Given the description of an element on the screen output the (x, y) to click on. 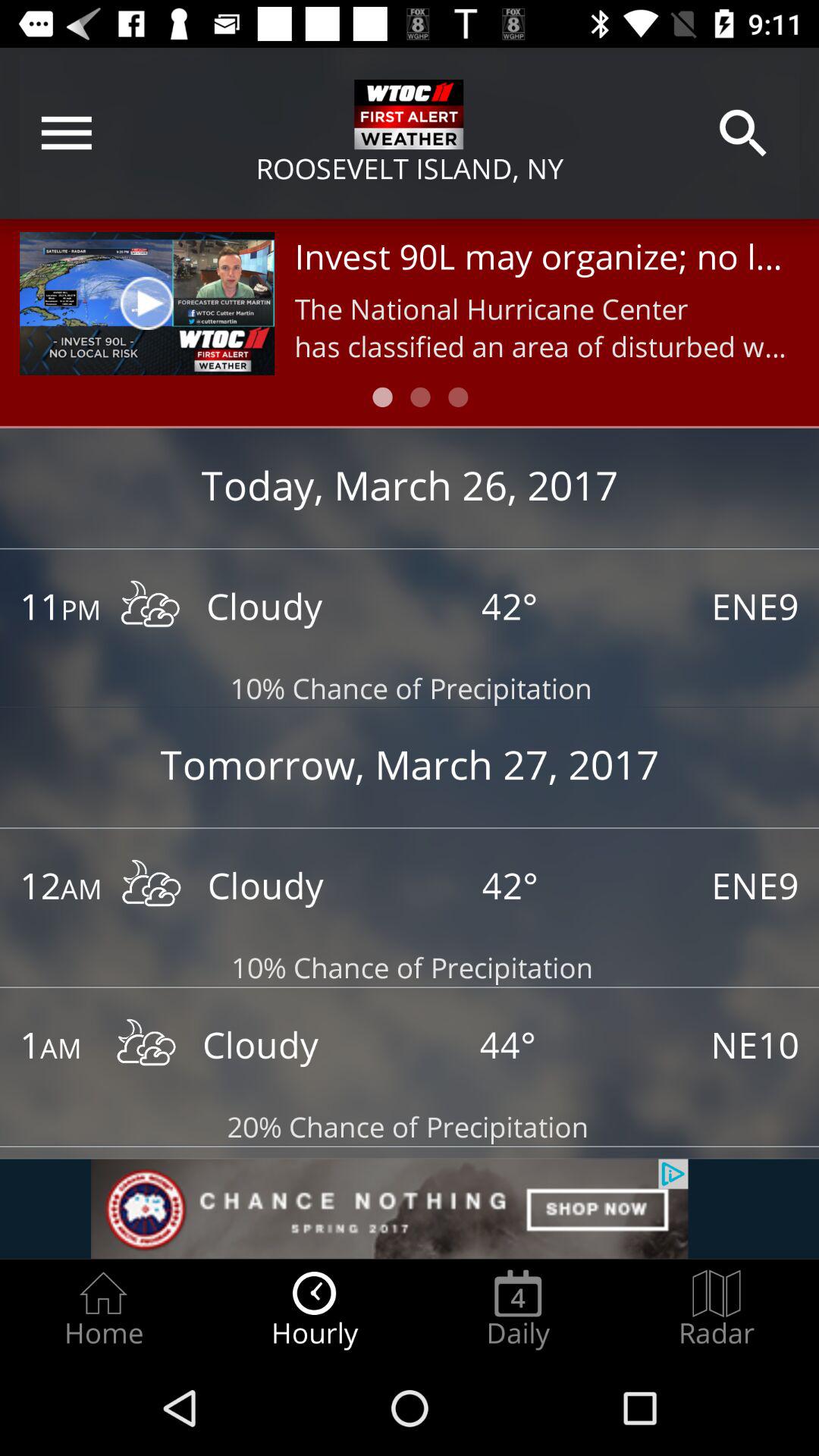
swipe to daily (518, 1309)
